Given the description of an element on the screen output the (x, y) to click on. 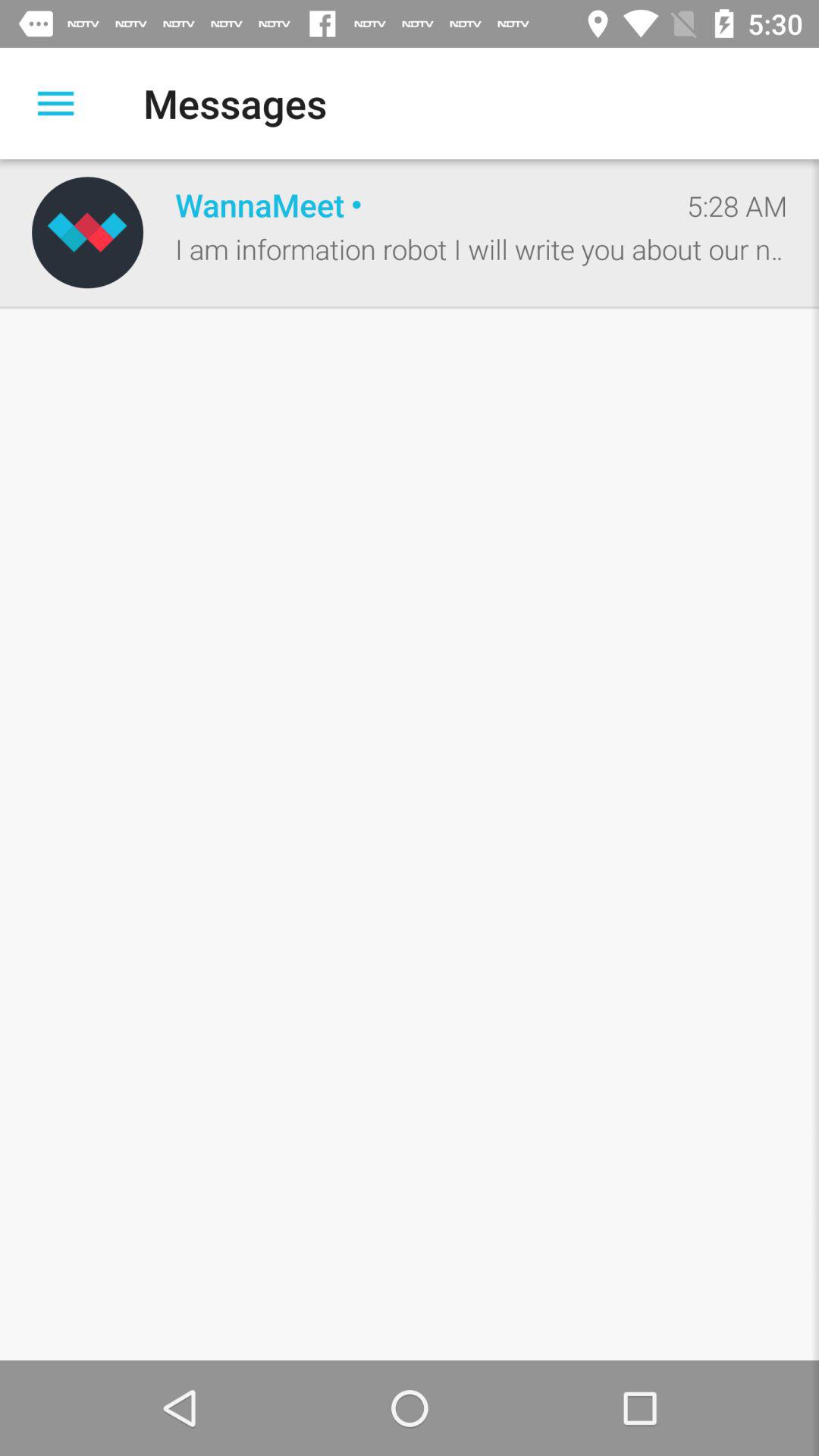
flip to i am information icon (481, 248)
